Given the description of an element on the screen output the (x, y) to click on. 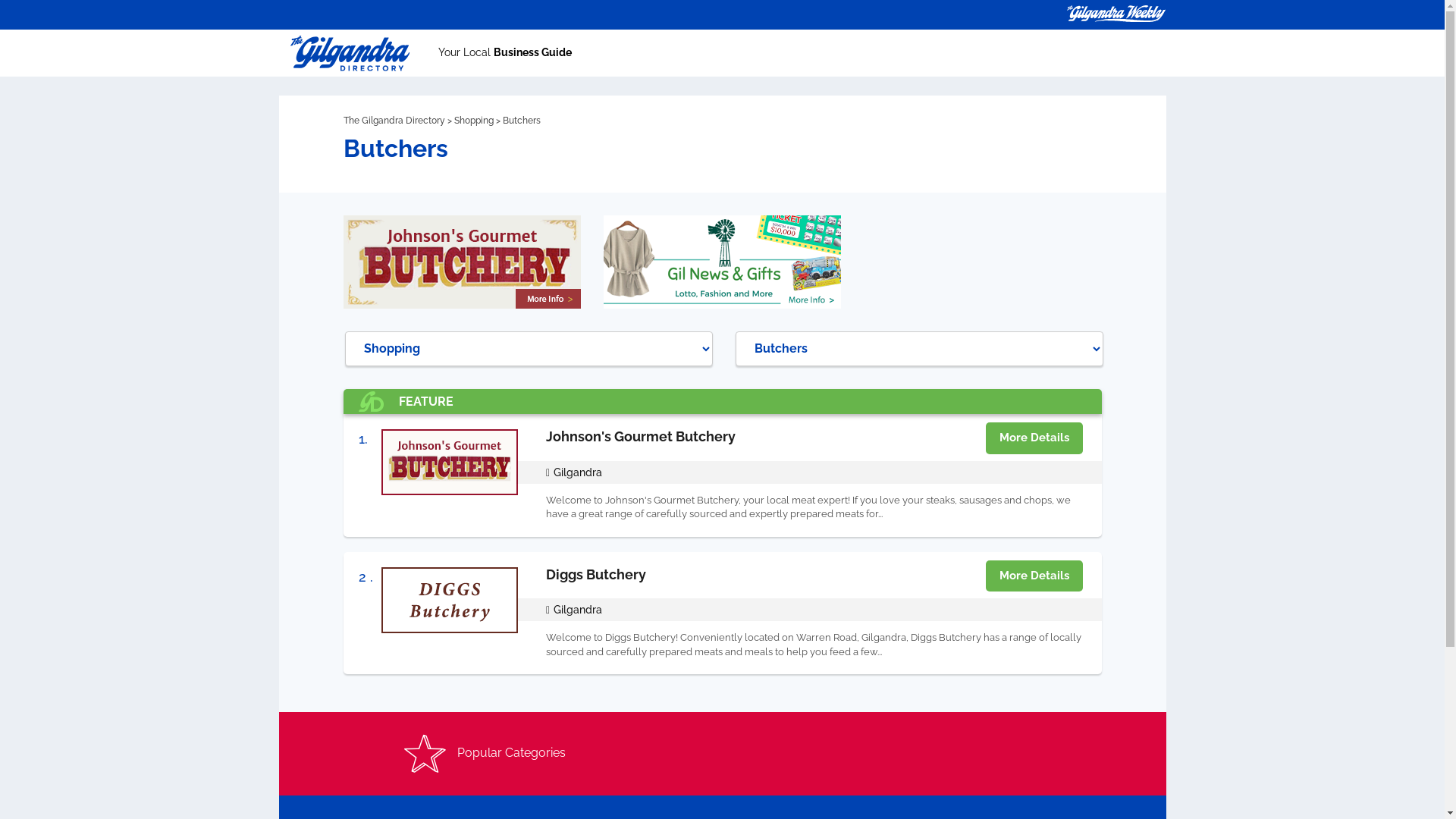
The Gilgandra Directory Element type: text (393, 120)
More Details Element type: text (1033, 437)
More Details Element type: text (1033, 575)
Diggs Butchery Element type: text (596, 574)
Johnson's Gourmet Butchery Element type: text (640, 436)
Shopping Element type: text (472, 120)
